Given the description of an element on the screen output the (x, y) to click on. 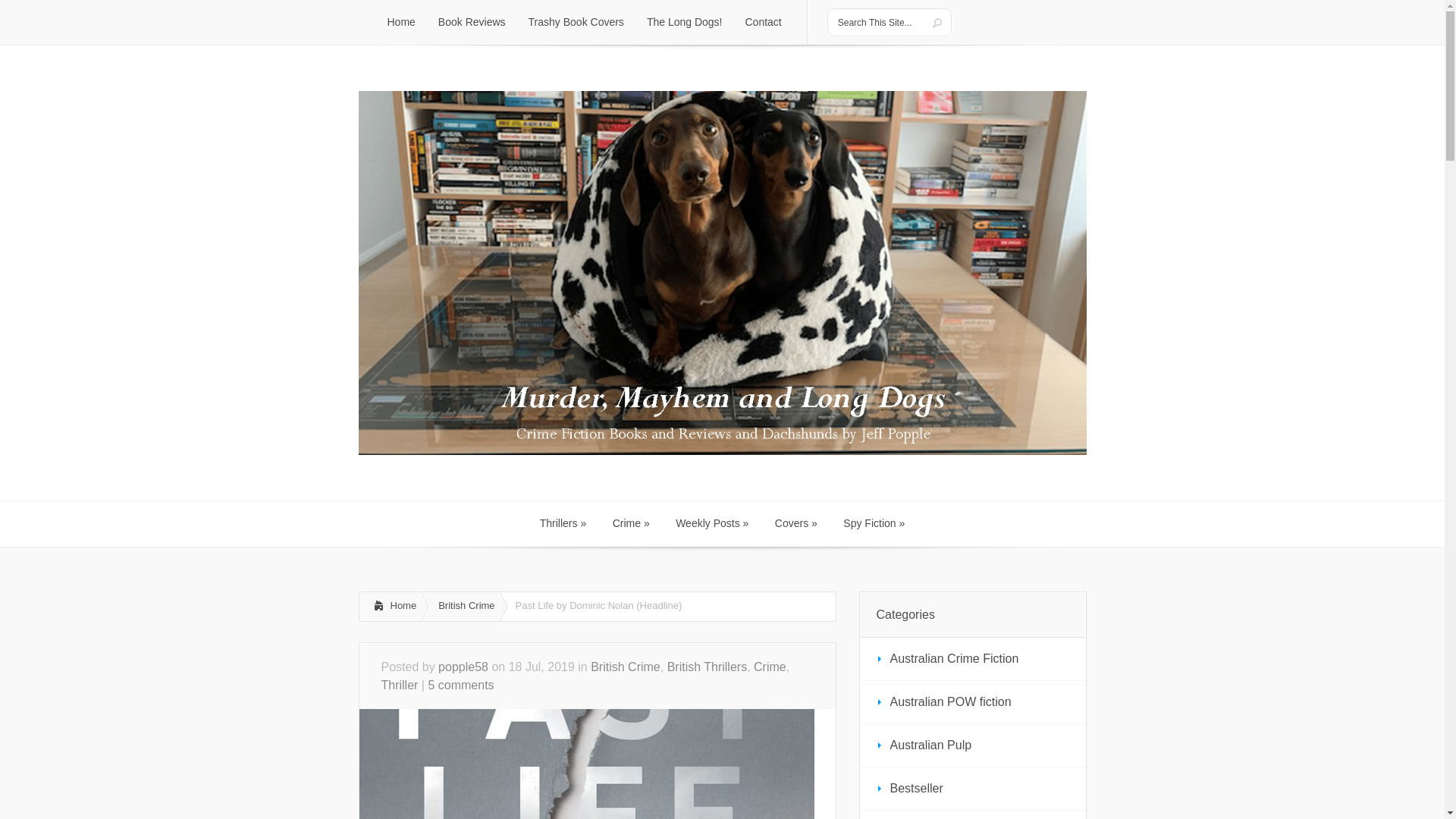
Trashy Book Covers (575, 22)
Book Reviews (471, 22)
The Long Dogs! (683, 22)
Search This Site... (876, 22)
Contact (763, 22)
Posts by popple58 (462, 666)
Home (400, 22)
